Given the description of an element on the screen output the (x, y) to click on. 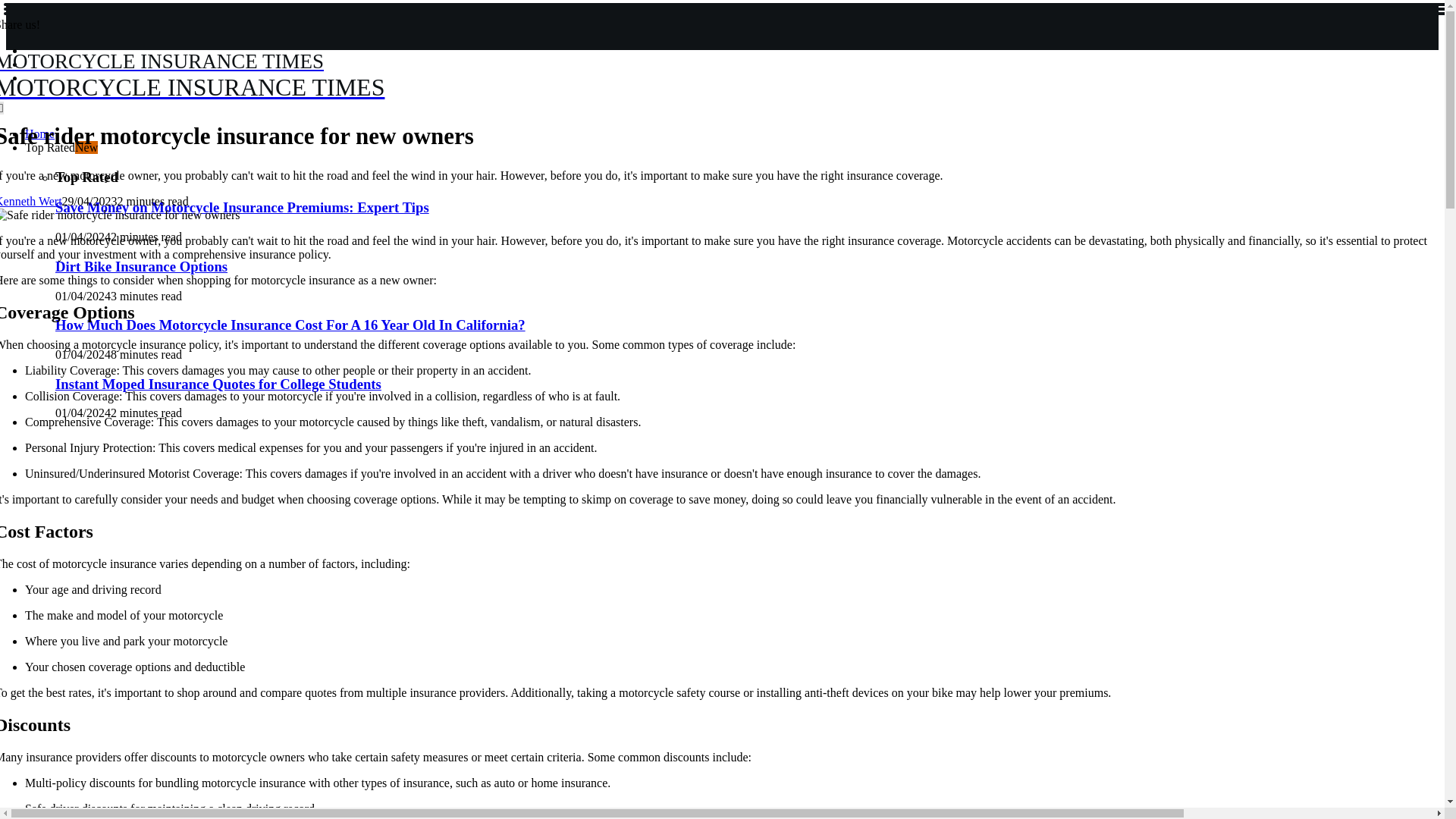
Instant Moped Insurance Quotes for College Students (218, 383)
Home (39, 133)
Top RatedNew (60, 146)
Save Money on Motorcycle Insurance Premiums: Expert Tips (242, 207)
Kenneth Wert (262, 75)
Posts by Kenneth Wert (31, 201)
Dirt Bike Insurance Options (31, 201)
